Given the description of an element on the screen output the (x, y) to click on. 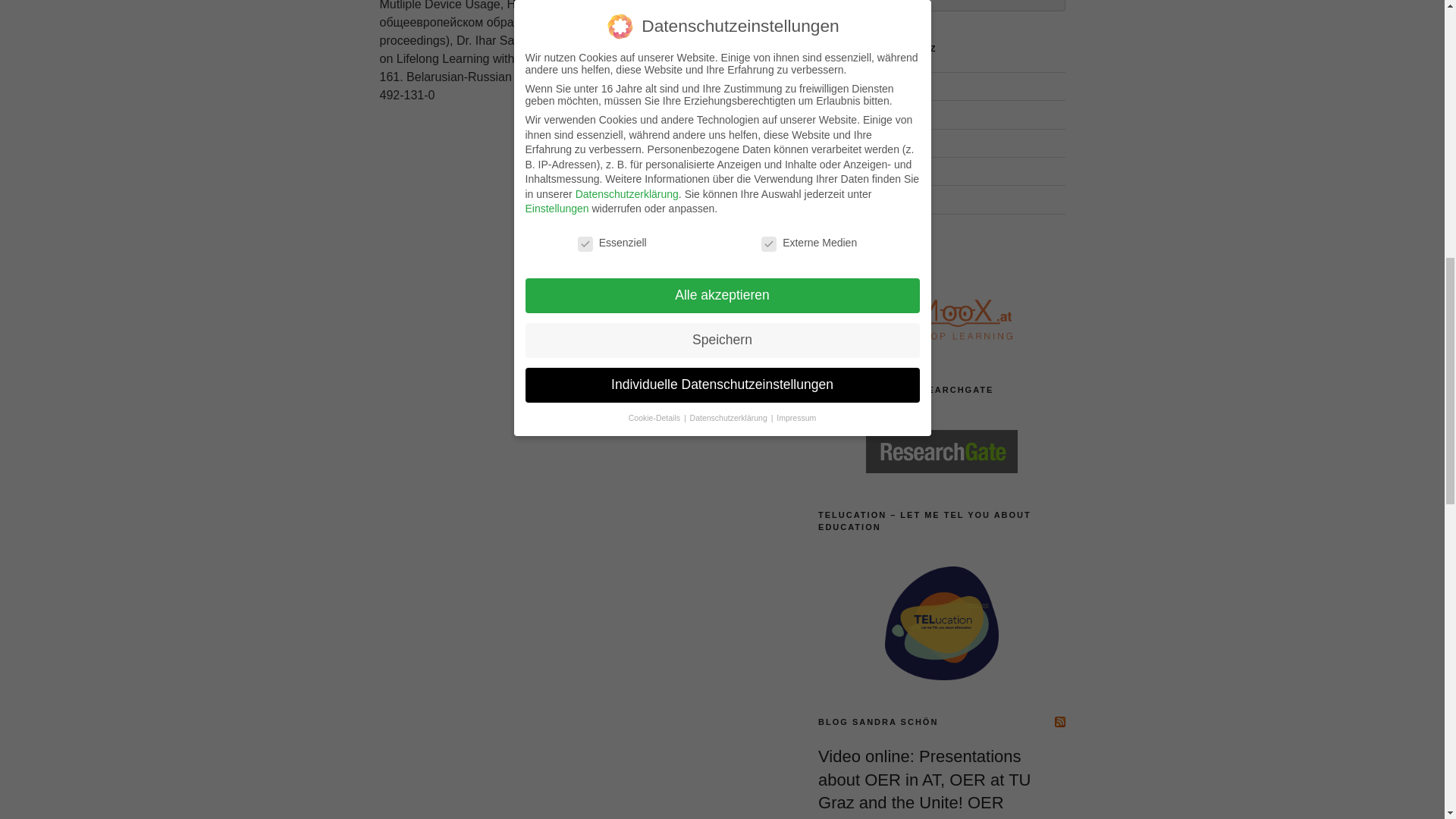
Lehrplattform der TU Graz (869, 171)
MOOC Plattform iMooX (833, 114)
iMooX (833, 114)
E-Learning TU Graz (865, 86)
TELucation (845, 142)
TU Graz TeachCenter (869, 171)
Videoplattform TUbe (866, 199)
Abteilung e-Learning TU Graz (865, 86)
